Given the description of an element on the screen output the (x, y) to click on. 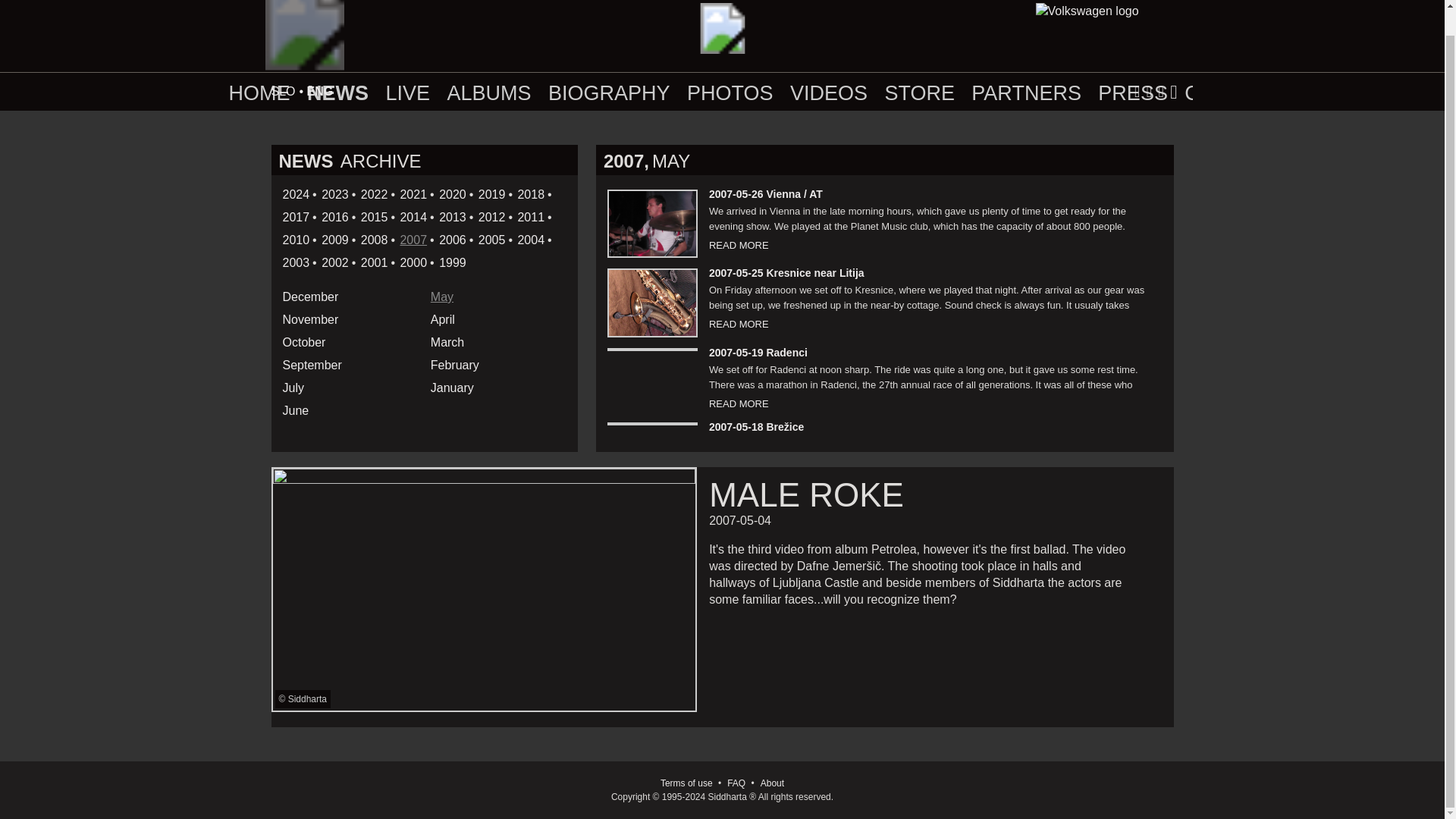
Volkswagen logo (1107, 21)
2017 (295, 216)
NEWS (337, 92)
HOME (258, 92)
2018 (530, 194)
2024 (295, 194)
ENG (320, 91)
CONTACT (1233, 92)
ALBUMS (488, 92)
2023 (335, 194)
